Given the description of an element on the screen output the (x, y) to click on. 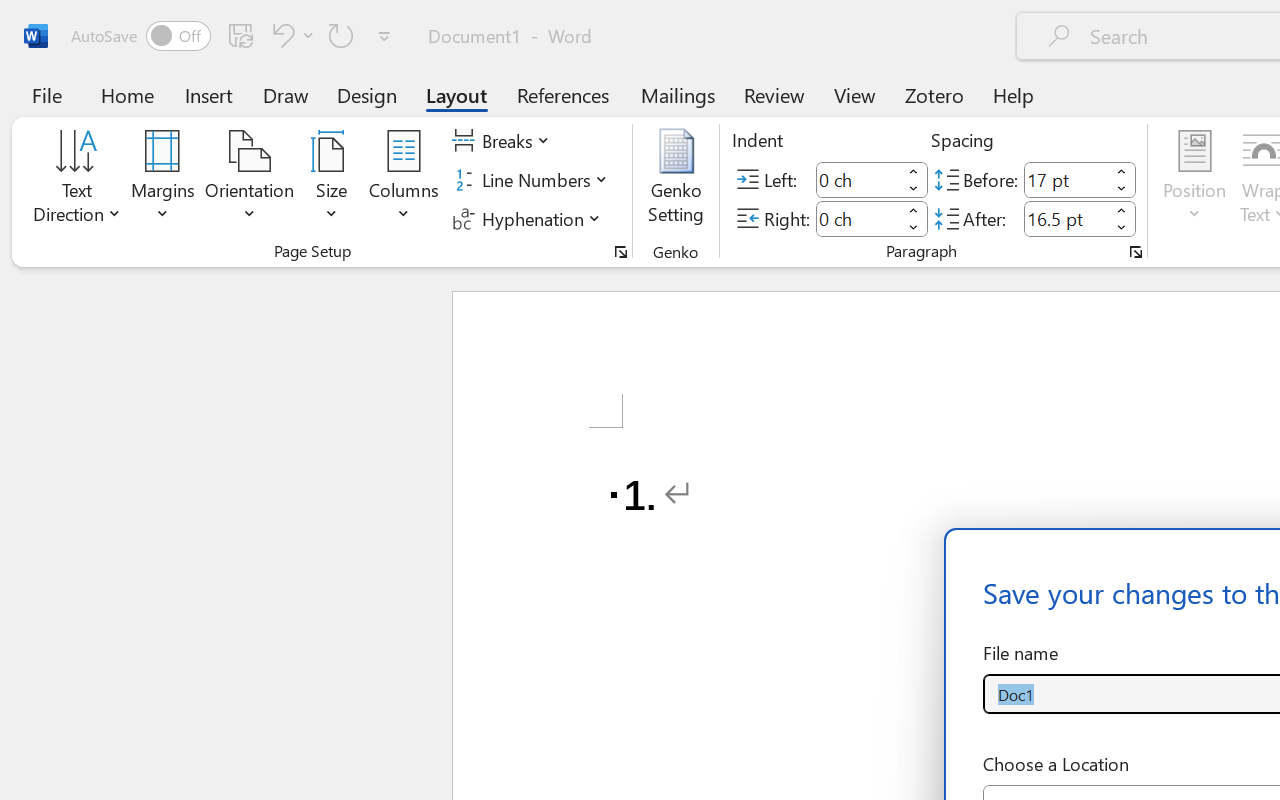
Indent Left (858, 179)
Undo Number Default (290, 35)
Hyphenation (529, 218)
Spacing Before (1066, 179)
Columns (404, 179)
Undo Number Default (280, 35)
